Given the description of an element on the screen output the (x, y) to click on. 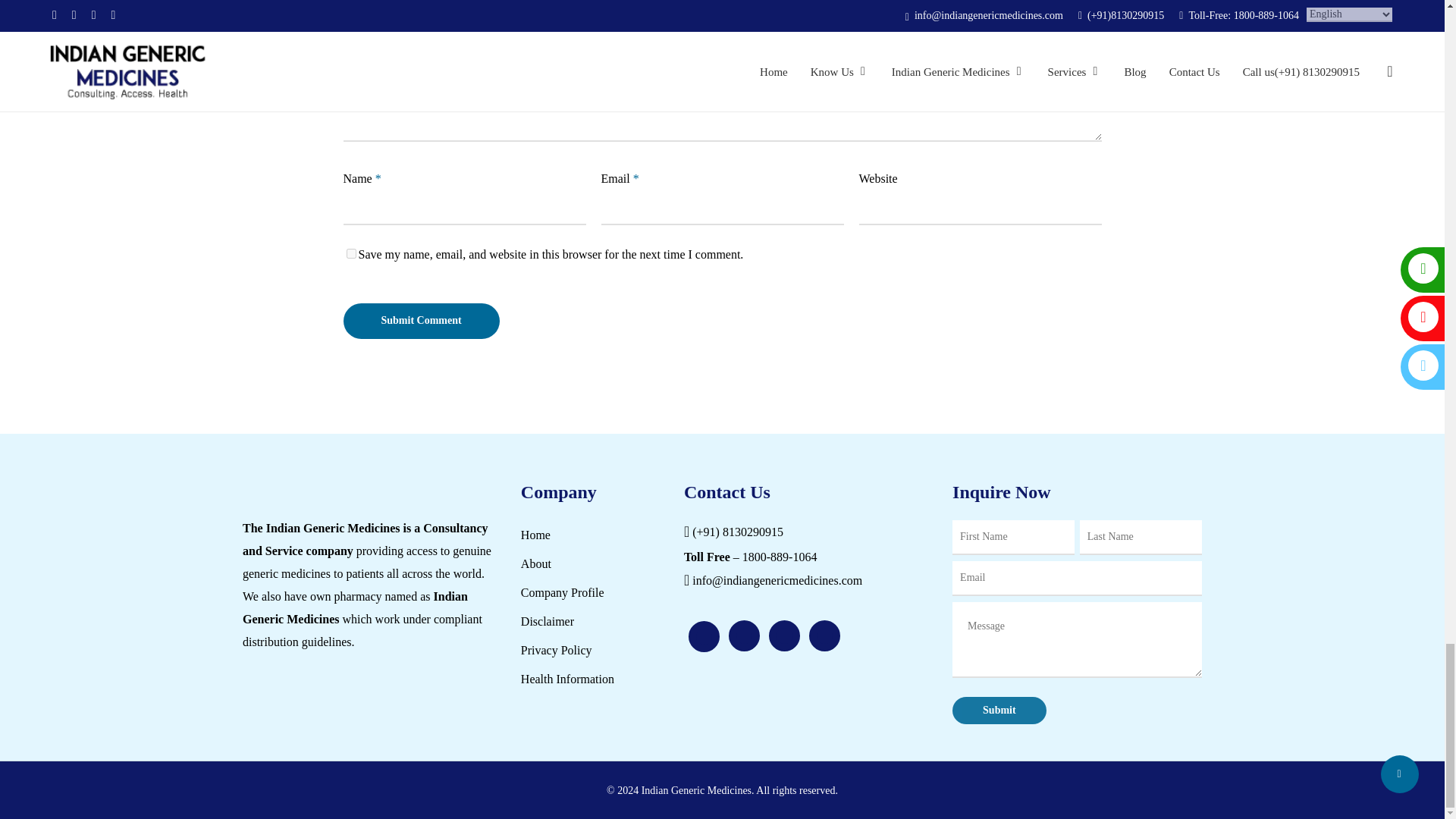
yes (350, 253)
Submit Comment (420, 321)
Submit (999, 709)
